Given the description of an element on the screen output the (x, y) to click on. 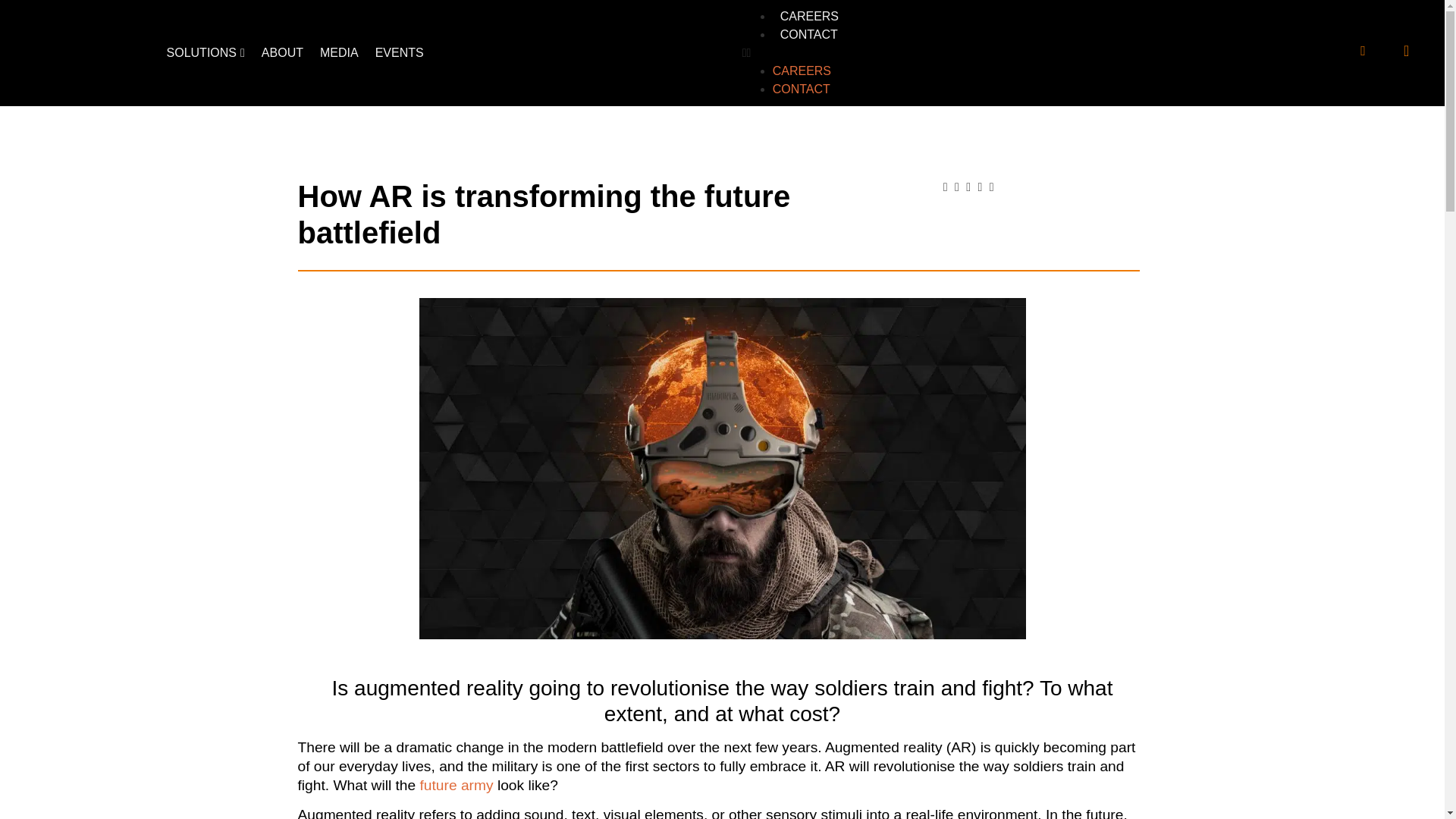
SOLUTIONS (204, 52)
